Given the description of an element on the screen output the (x, y) to click on. 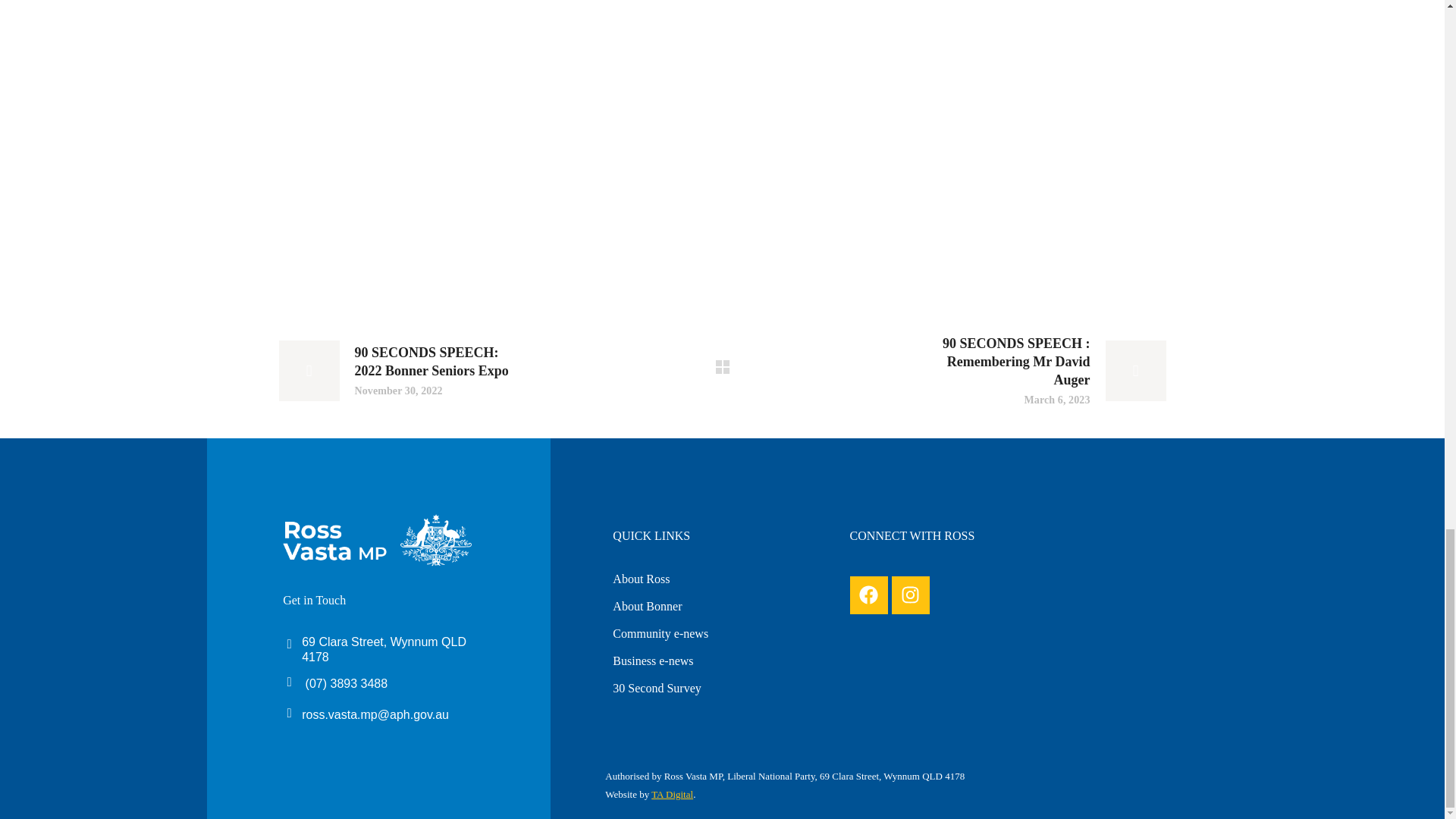
90 SECONDS SPEECH: 2022 Bonner Seniors Expo (396, 370)
90 SECONDS SPEECH : Remembering Mr David Auger (1048, 370)
